Given the description of an element on the screen output the (x, y) to click on. 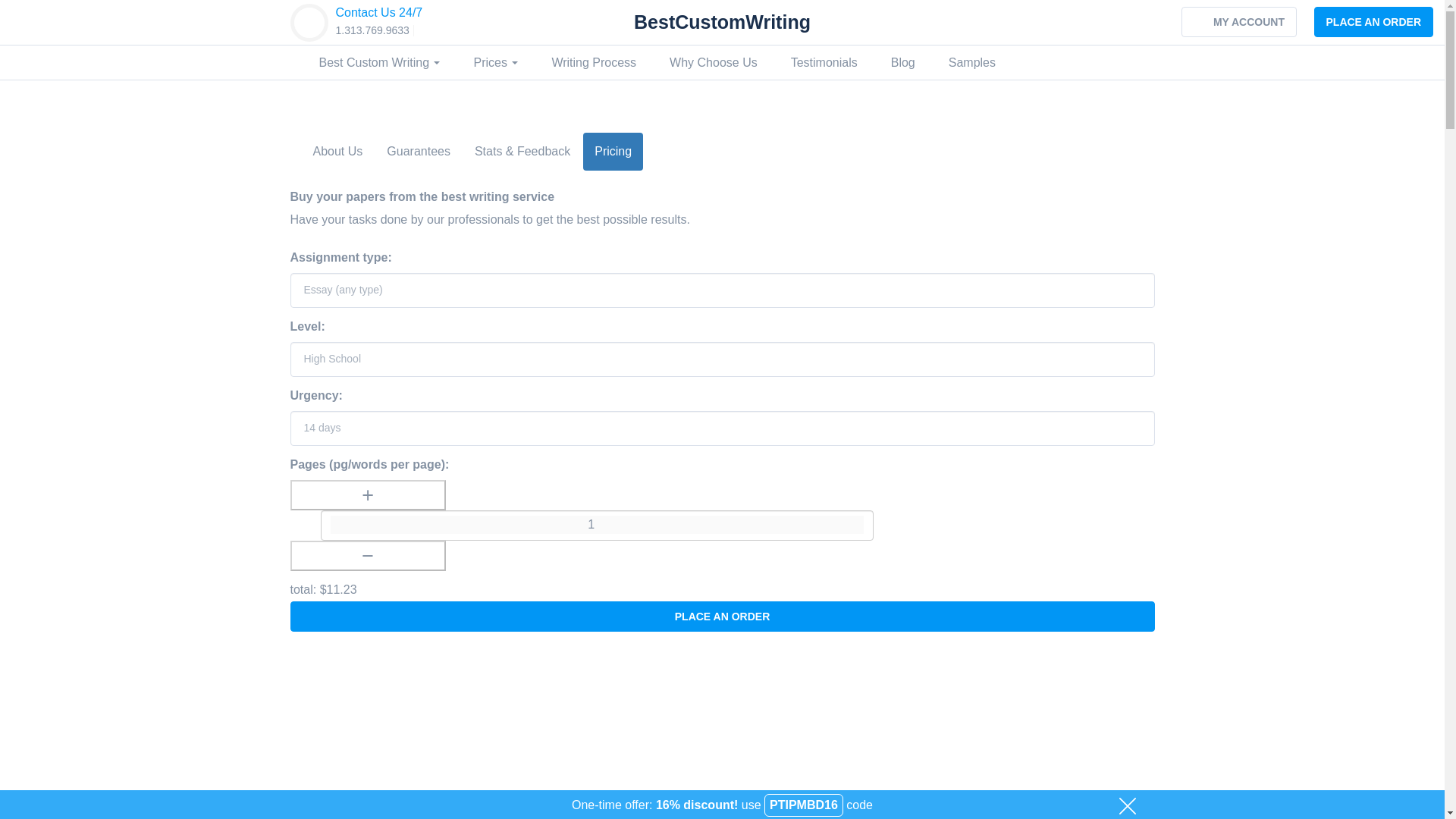
Prices (495, 61)
1 (597, 524)
Best Custom Writing (379, 61)
Writing Process (593, 61)
Testimonials (823, 61)
BestCustomWriting (721, 21)
PLACE AN ORDER (721, 616)
Why Choose Us (713, 61)
Pricing (613, 151)
1.313.769.9633 (371, 30)
PLACE AN ORDER (1372, 21)
Blog (903, 61)
About Us (337, 151)
Samples (972, 61)
MY ACCOUNT (1238, 21)
